Given the description of an element on the screen output the (x, y) to click on. 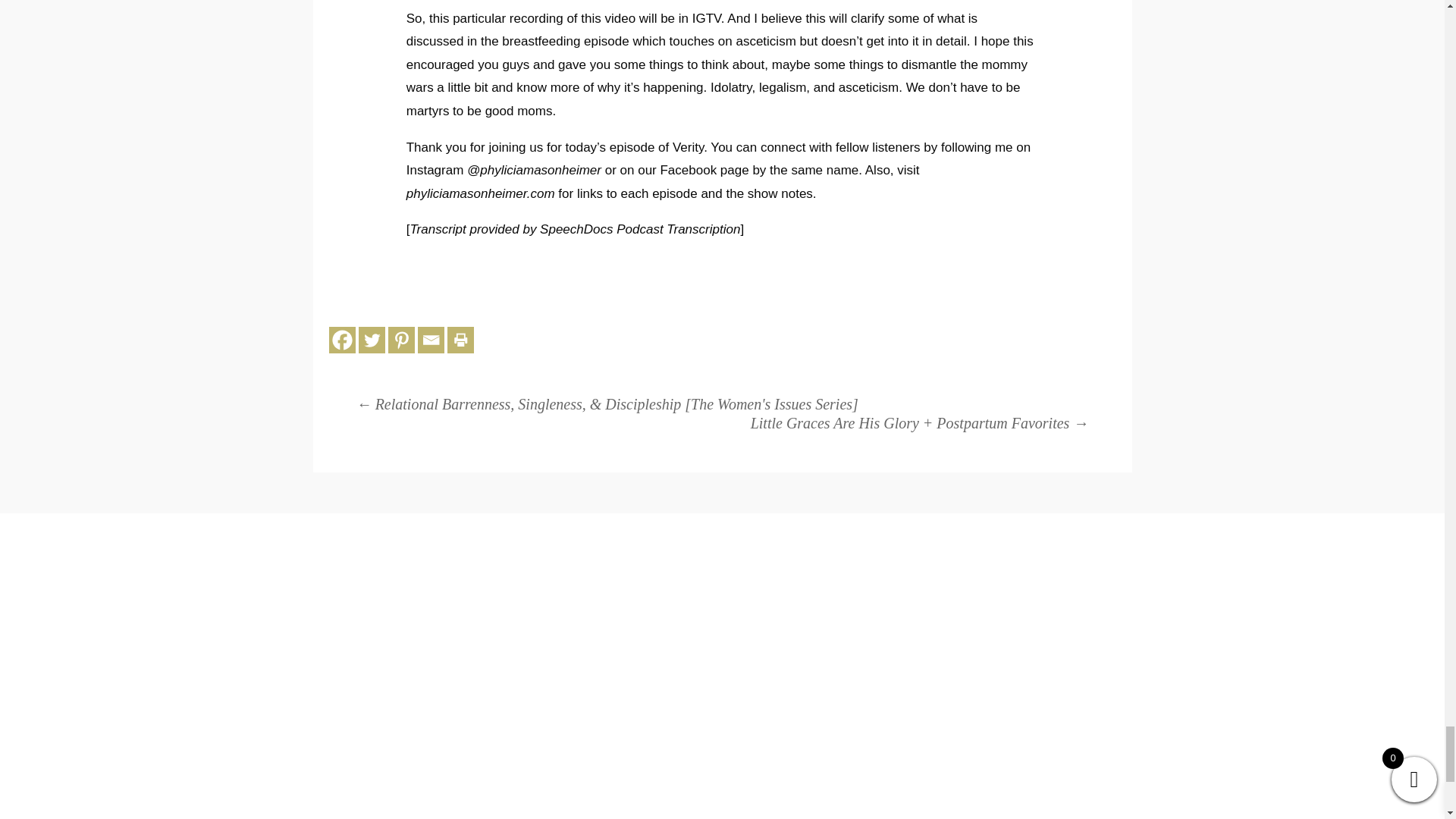
Print (460, 339)
Email (430, 339)
Facebook (342, 339)
Pinterest (401, 339)
Twitter (371, 339)
